Given the description of an element on the screen output the (x, y) to click on. 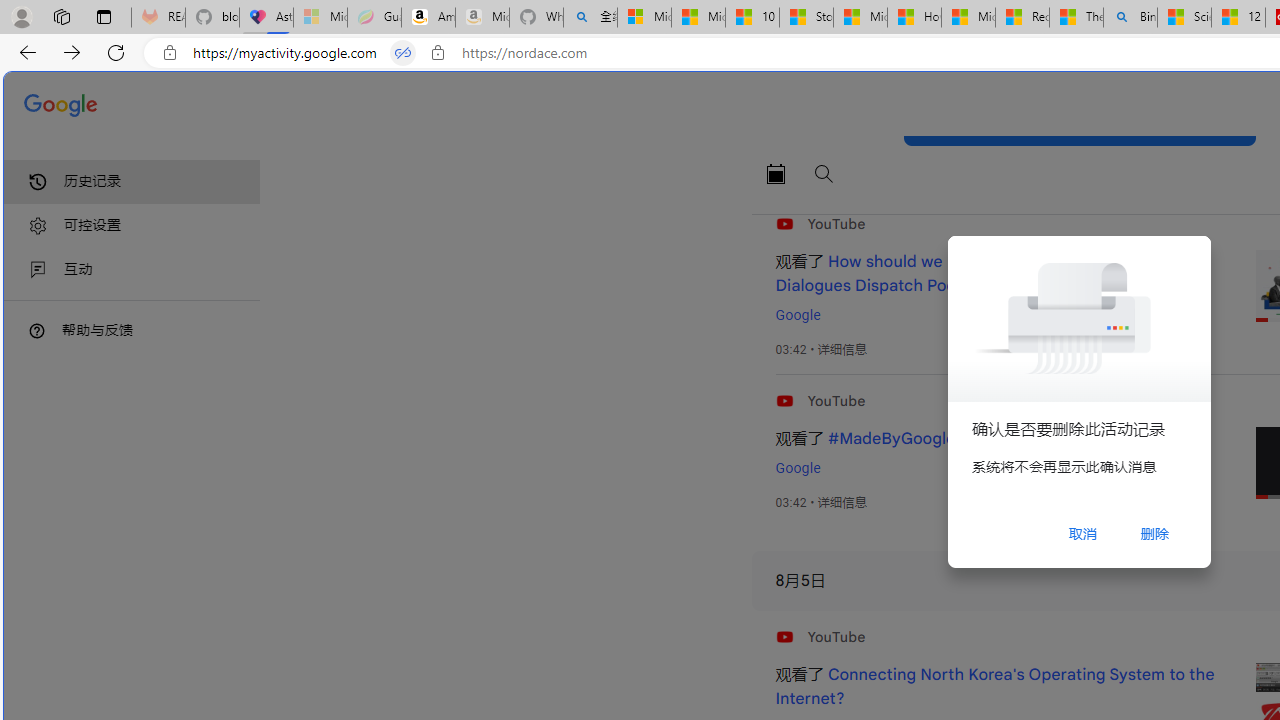
Class: i2GIId (38, 269)
